Given the description of an element on the screen output the (x, y) to click on. 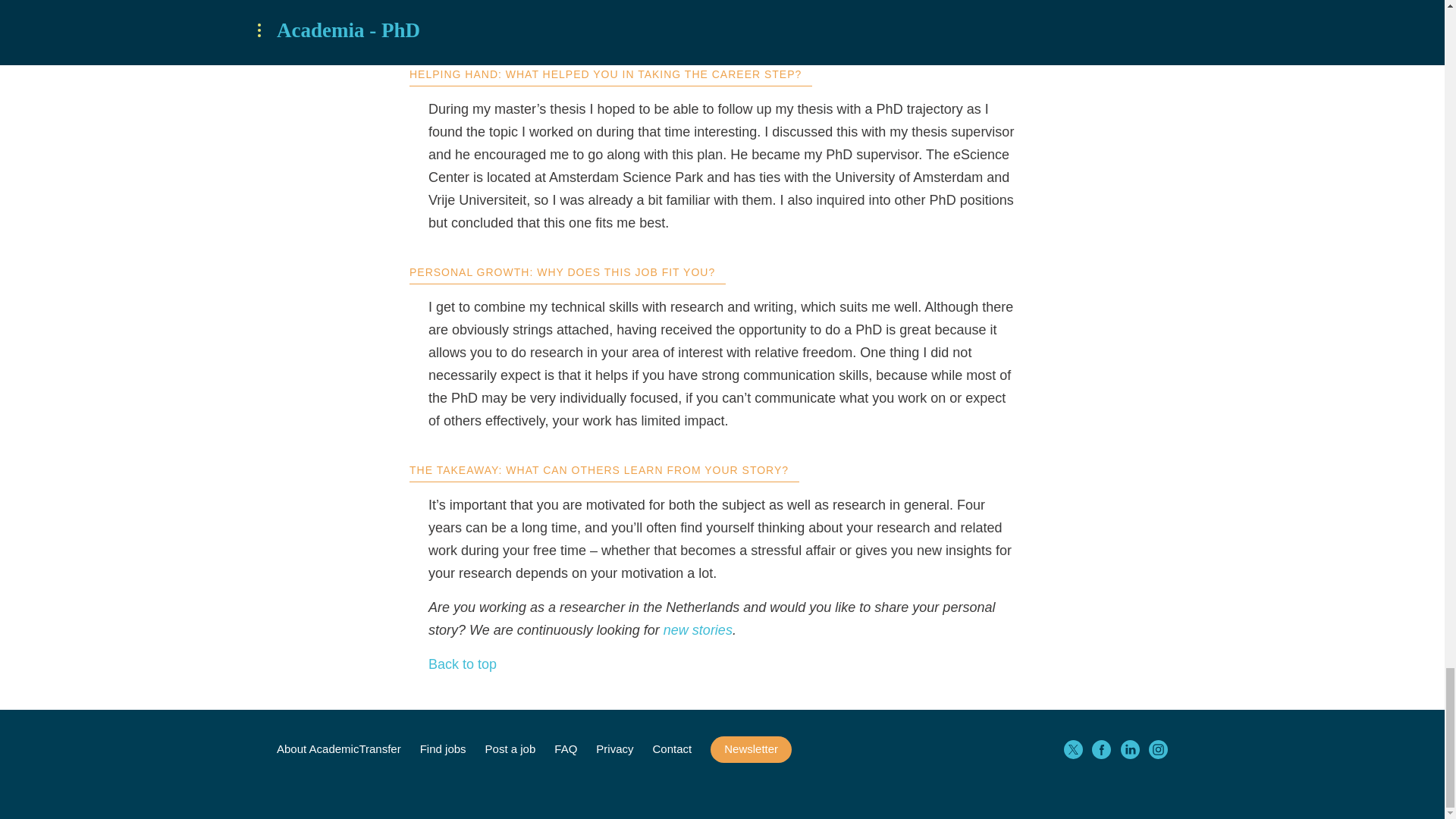
X Logo (1071, 749)
Instagram Logo (1157, 749)
Facebook Logo (1101, 749)
LinkedIn Logo (1130, 749)
